Given the description of an element on the screen output the (x, y) to click on. 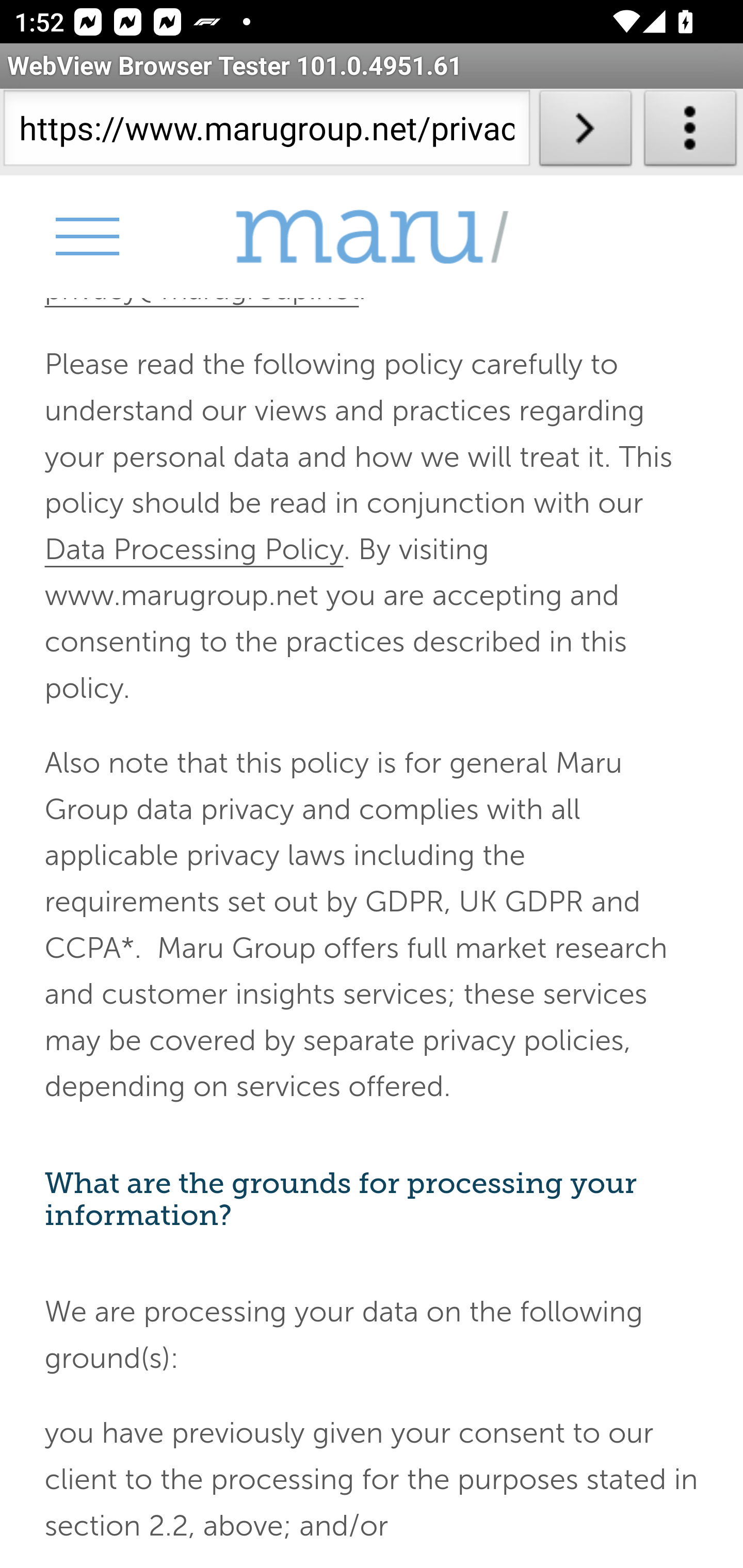
https://www.marugroup.net/privacy-policy (266, 132)
Load URL (585, 132)
About WebView (690, 132)
Open Menu (86, 236)
Maru Group (371, 236)
Data Processing Policy (193, 548)
